Given the description of an element on the screen output the (x, y) to click on. 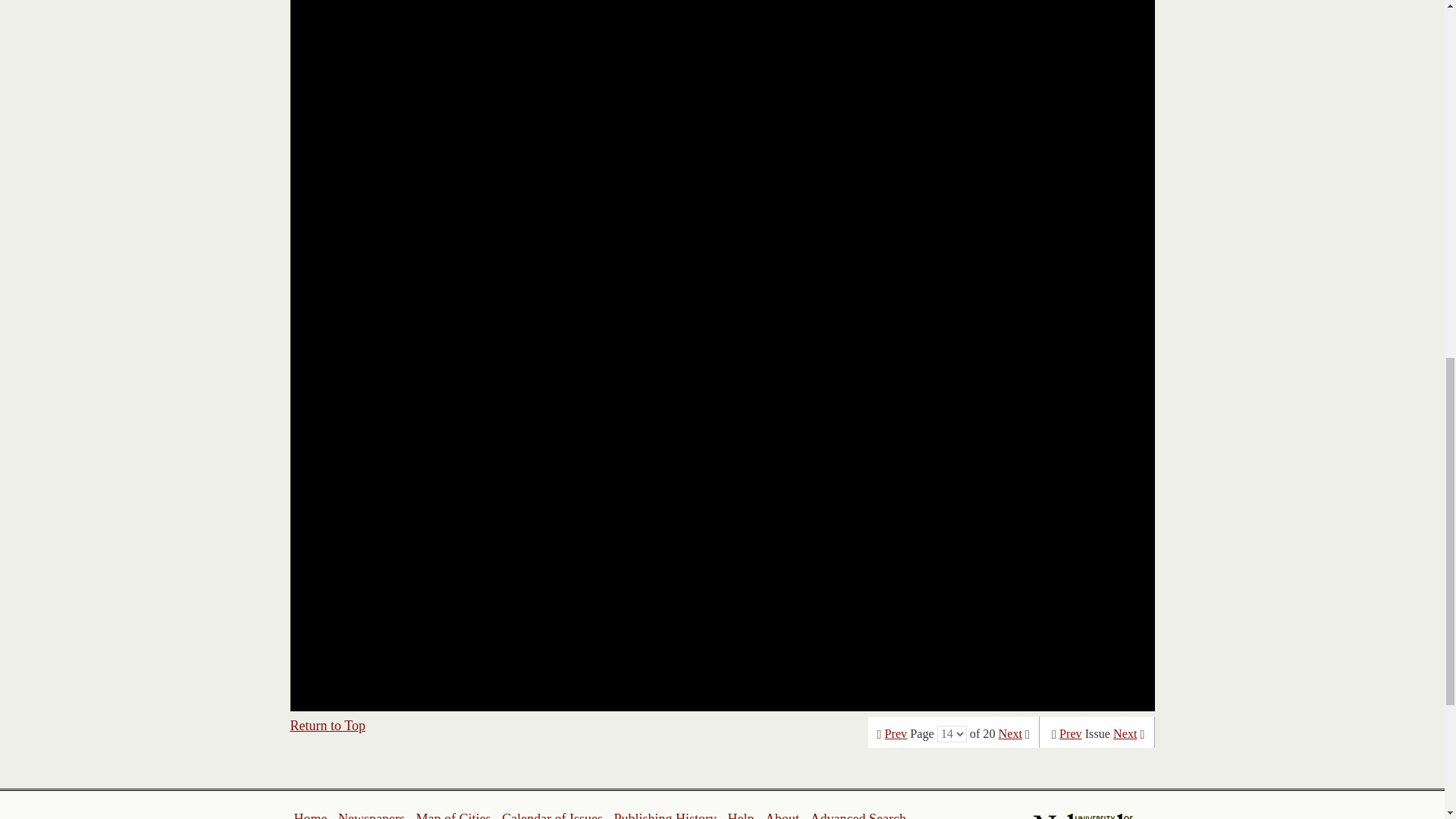
Prev (1070, 734)
Newspapers (370, 815)
Calendar of Issues (552, 815)
Map of Cities (452, 815)
Help (740, 815)
Publishing History (664, 815)
Prev (896, 734)
Next (1125, 734)
About (782, 815)
Advanced Search (857, 815)
